Given the description of an element on the screen output the (x, y) to click on. 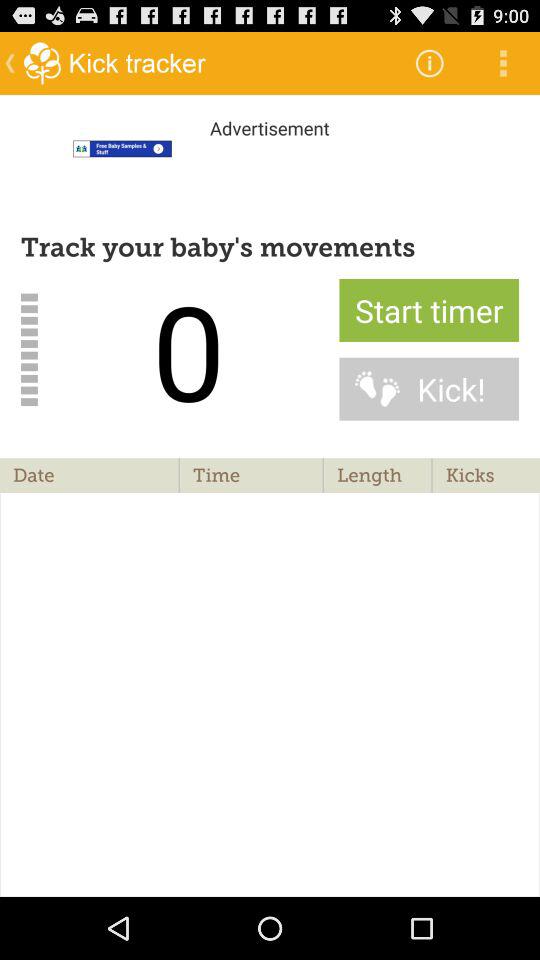
tracking movements starting at zero (269, 172)
